Given the description of an element on the screen output the (x, y) to click on. 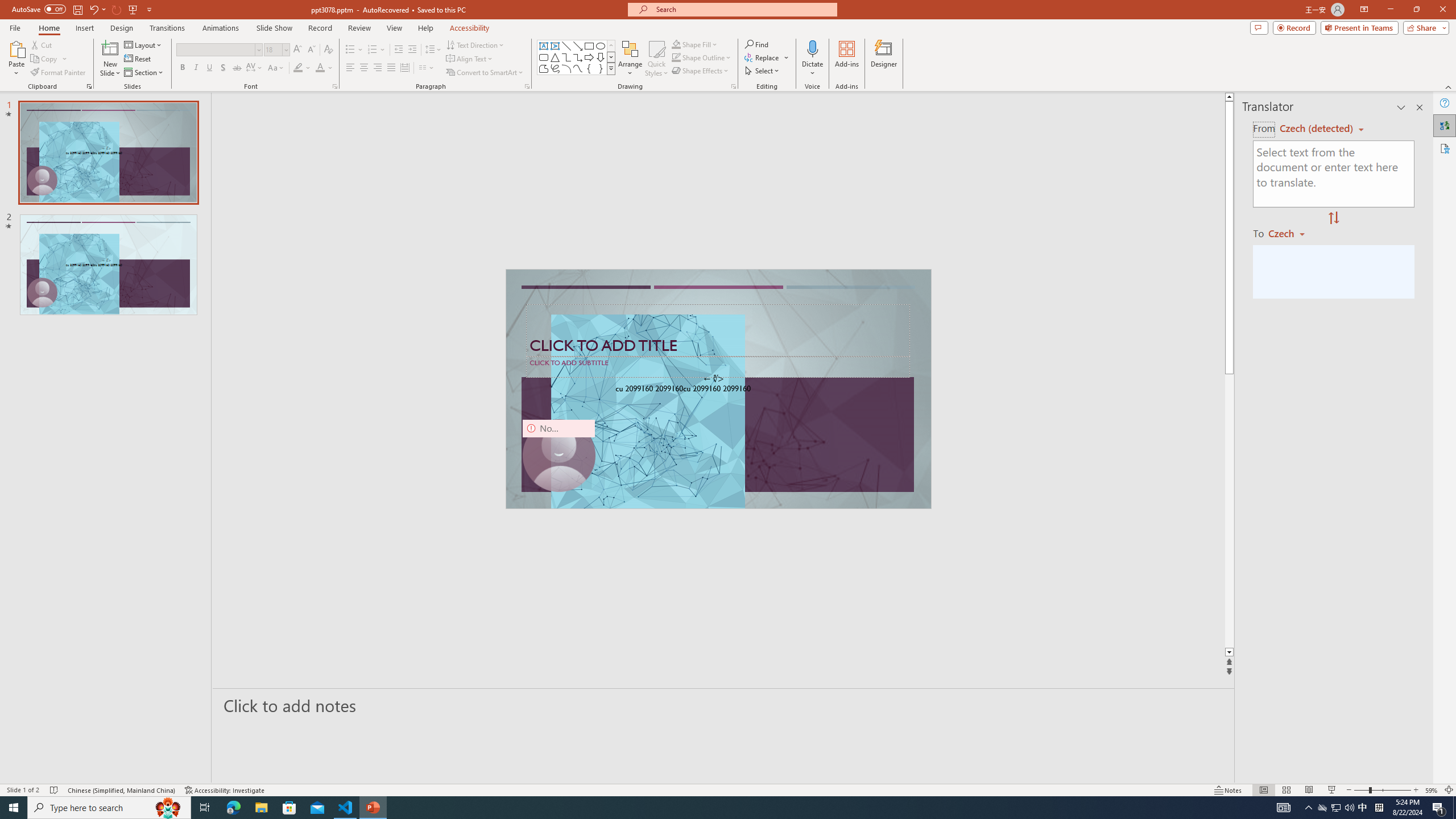
Czech (1291, 232)
Format Painter (58, 72)
